Given the description of an element on the screen output the (x, y) to click on. 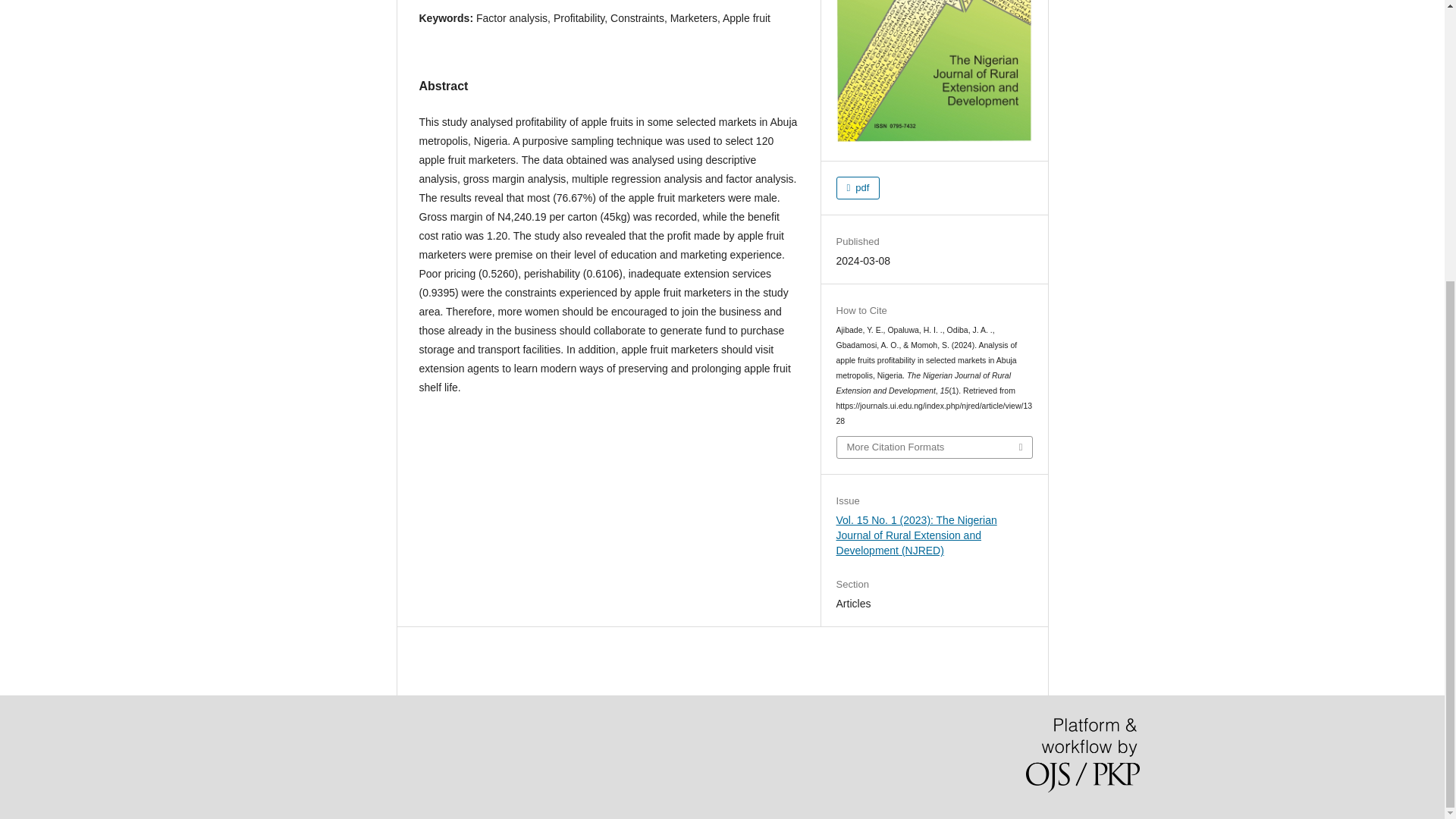
pdf (857, 187)
More Citation Formats (934, 446)
